Given the description of an element on the screen output the (x, y) to click on. 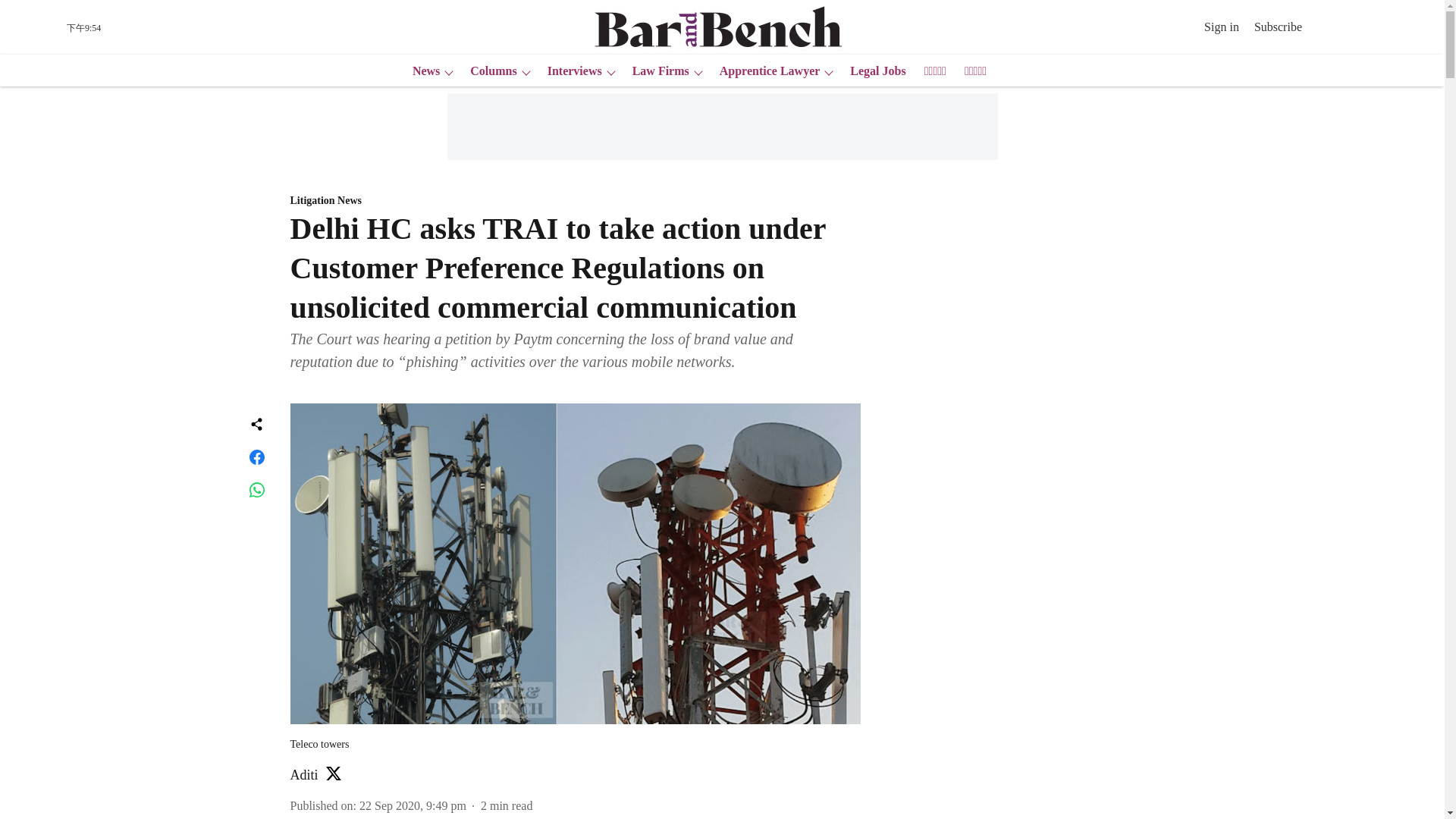
2020-09-22 13:49 (412, 805)
Legal Jobs (873, 71)
Law Firms (655, 71)
3rd party ad content (721, 126)
Litigation News (574, 201)
Interviews (570, 71)
3rd party ad content (1015, 528)
News (421, 71)
Apprentice Lawyer (765, 71)
Columns (488, 71)
Aditi (303, 774)
